Given the description of an element on the screen output the (x, y) to click on. 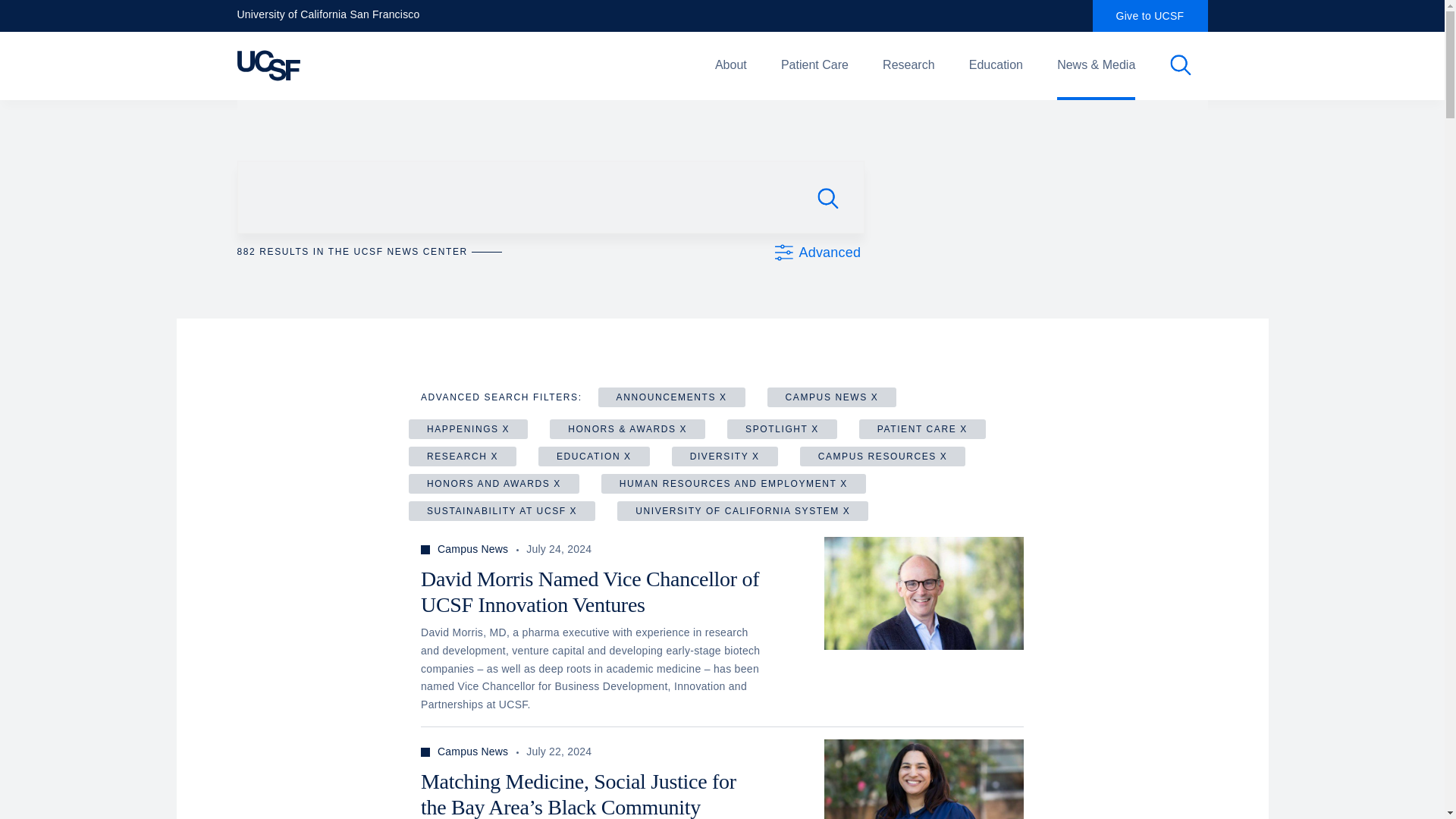
Home (359, 65)
Give to UCSF (1149, 15)
